Given the description of an element on the screen output the (x, y) to click on. 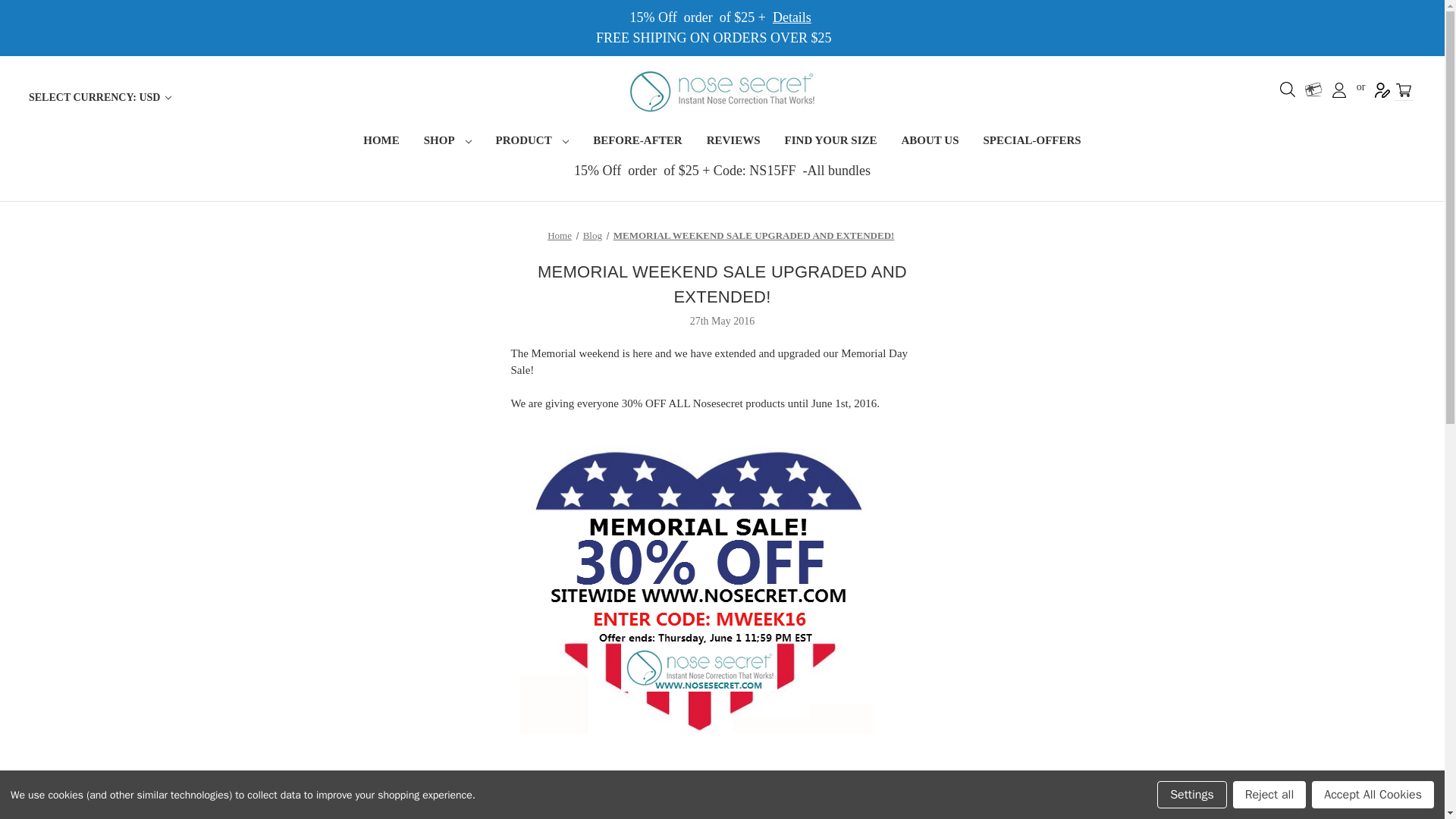
SPECIAL-OFFERS (1032, 141)
CART (1403, 90)
Home (559, 235)
Blog (592, 235)
ABOUT US (930, 141)
SHOP (447, 141)
FIND YOUR SIZE (831, 141)
PRODUCT (531, 141)
Details (791, 17)
